Given the description of an element on the screen output the (x, y) to click on. 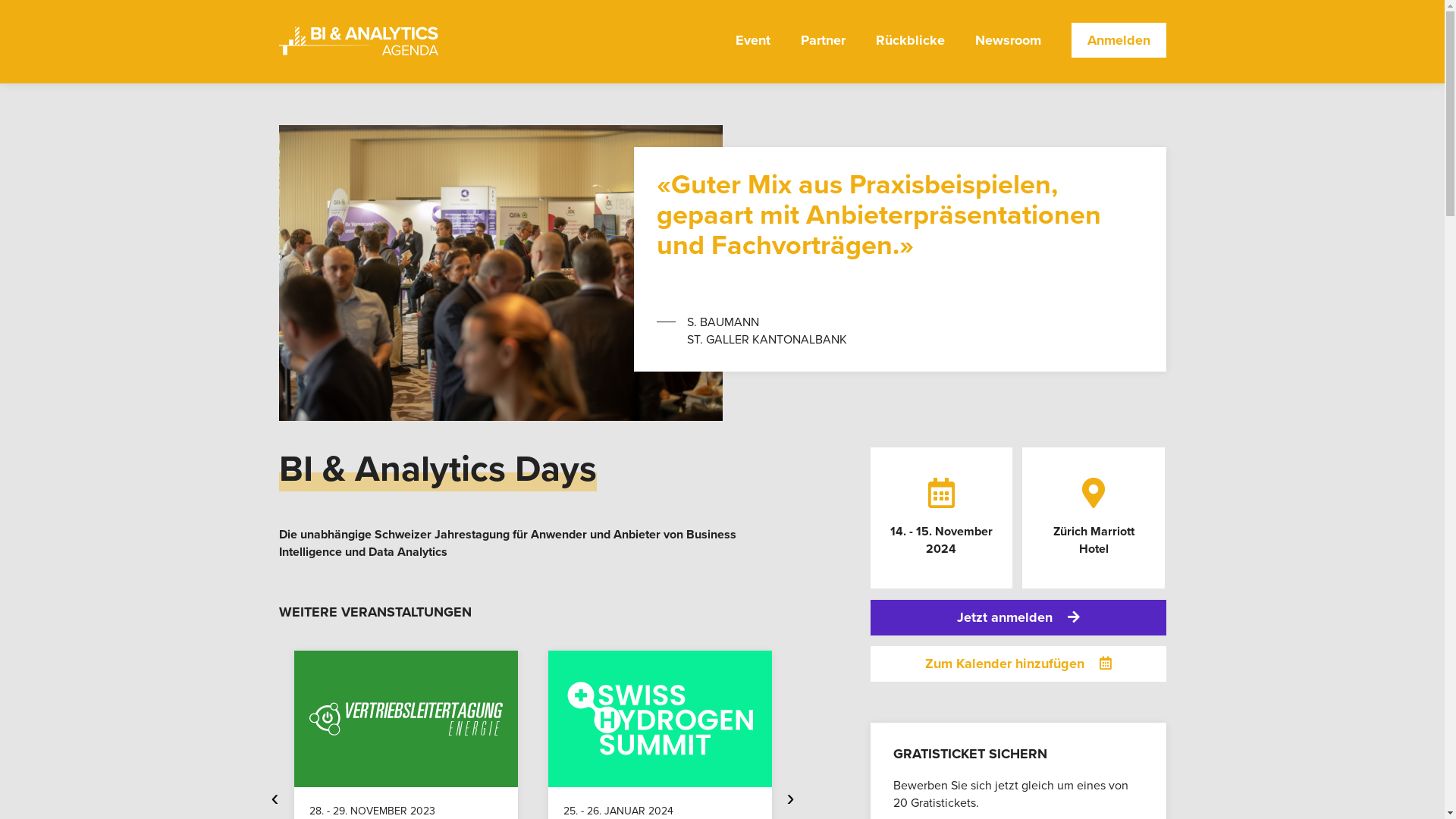
Newsroom Element type: text (1008, 51)
Partner Element type: text (822, 51)
Event Element type: text (752, 51)
Anmelden Element type: text (1117, 39)
Jetzt anmelden Element type: text (1018, 617)
Home BI & Analytics Days Element type: hover (358, 41)
